Given the description of an element on the screen output the (x, y) to click on. 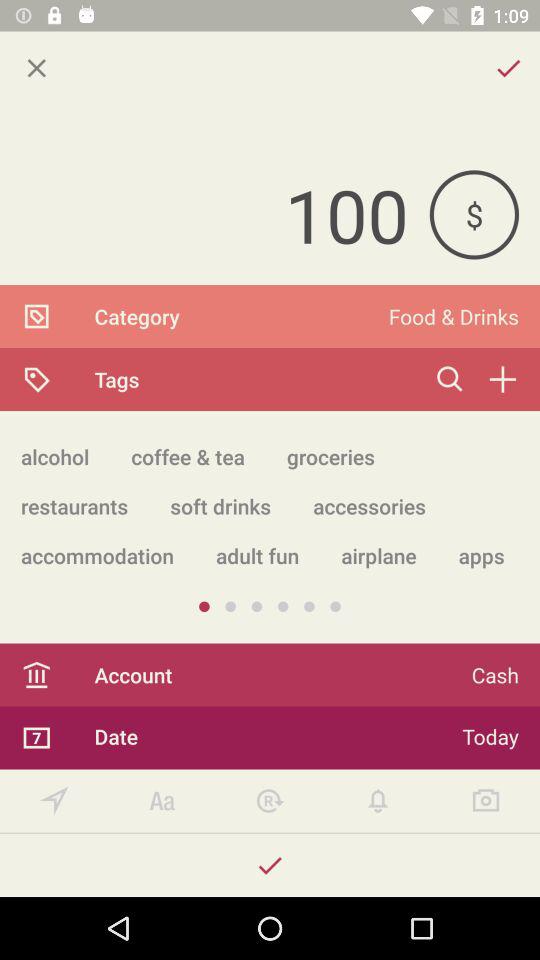
launch the icon to the right of the 100 item (474, 214)
